Given the description of an element on the screen output the (x, y) to click on. 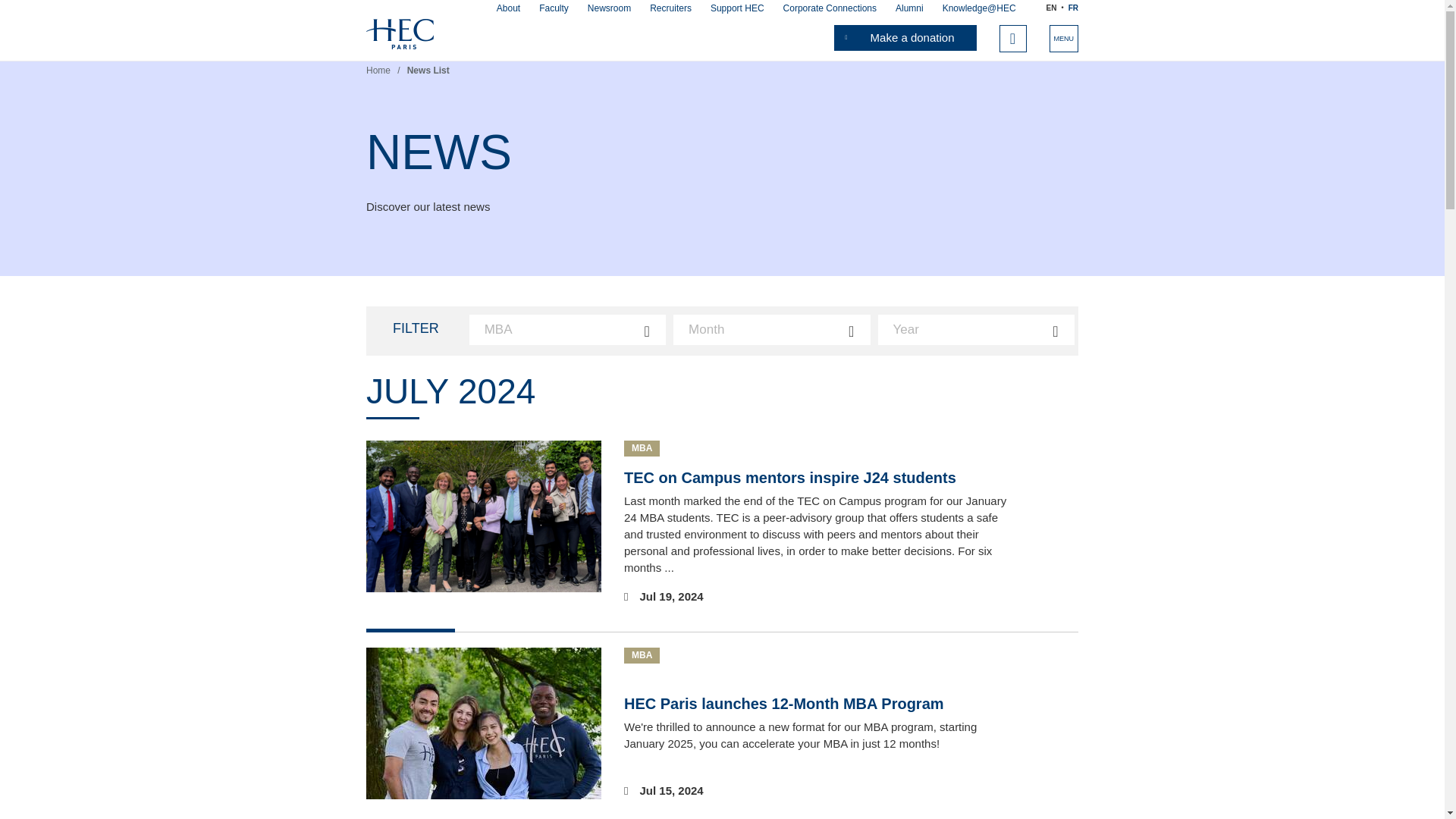
FR (1073, 8)
Corporate Connections (829, 8)
MENU (1063, 38)
Alumni (909, 8)
Recruiters (670, 8)
Newsroom (609, 8)
admission (523, 19)
About  (507, 8)
Faculty (553, 8)
Newsroom (609, 8)
Corporate Connections (829, 8)
Recruiters (670, 8)
About (507, 8)
